Given the description of an element on the screen output the (x, y) to click on. 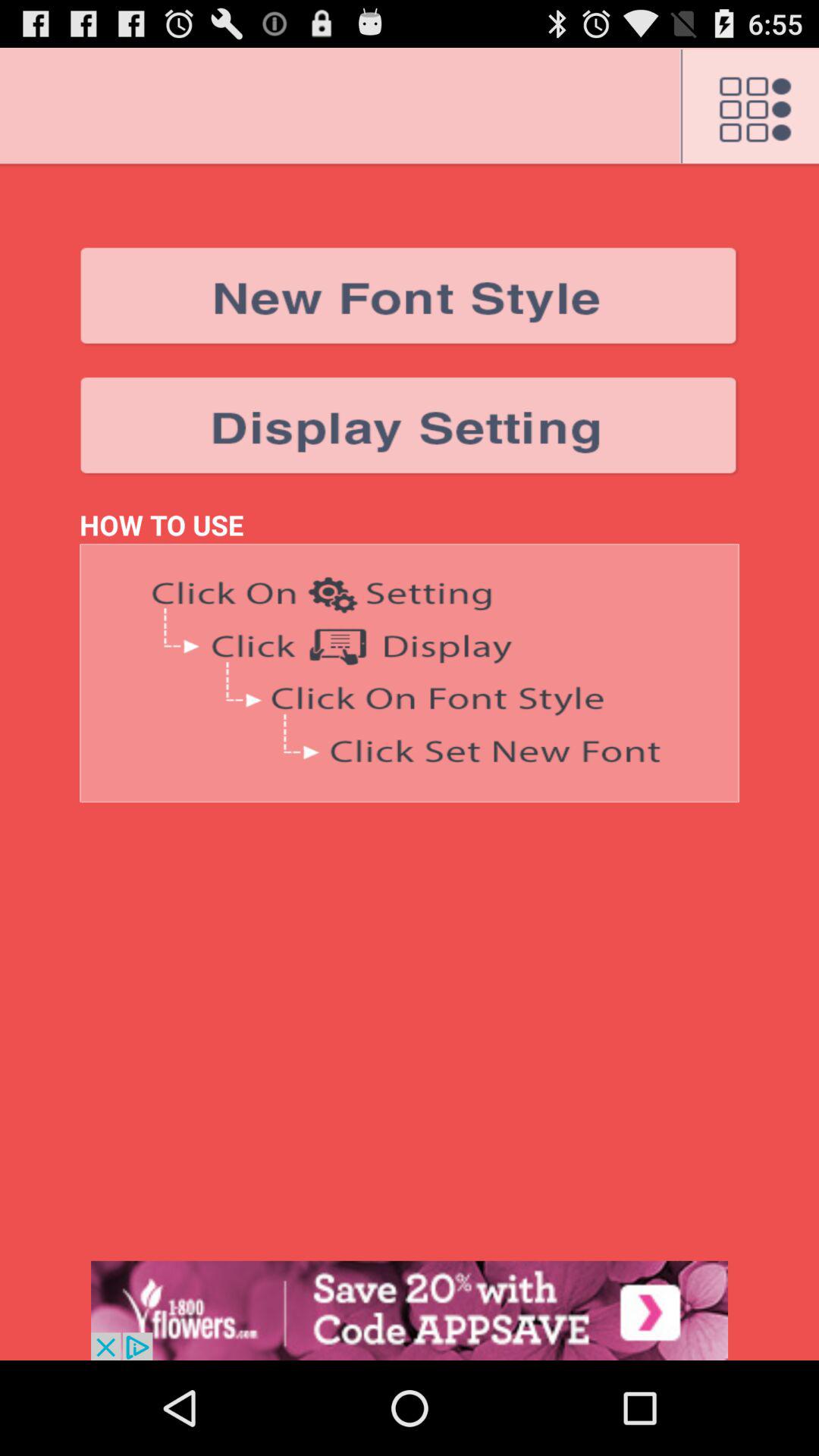
open settings (749, 106)
